Given the description of an element on the screen output the (x, y) to click on. 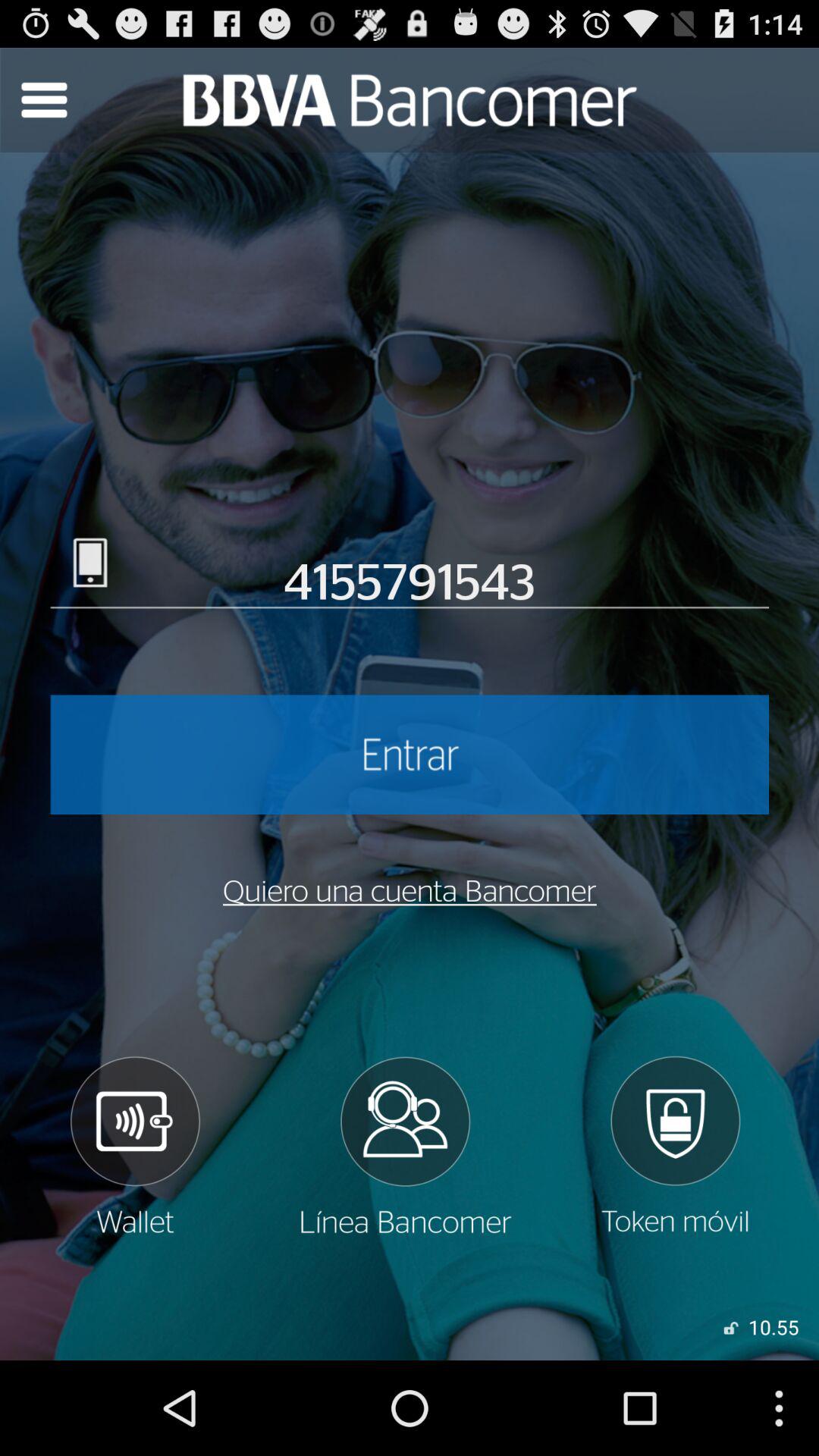
log (674, 1145)
